Given the description of an element on the screen output the (x, y) to click on. 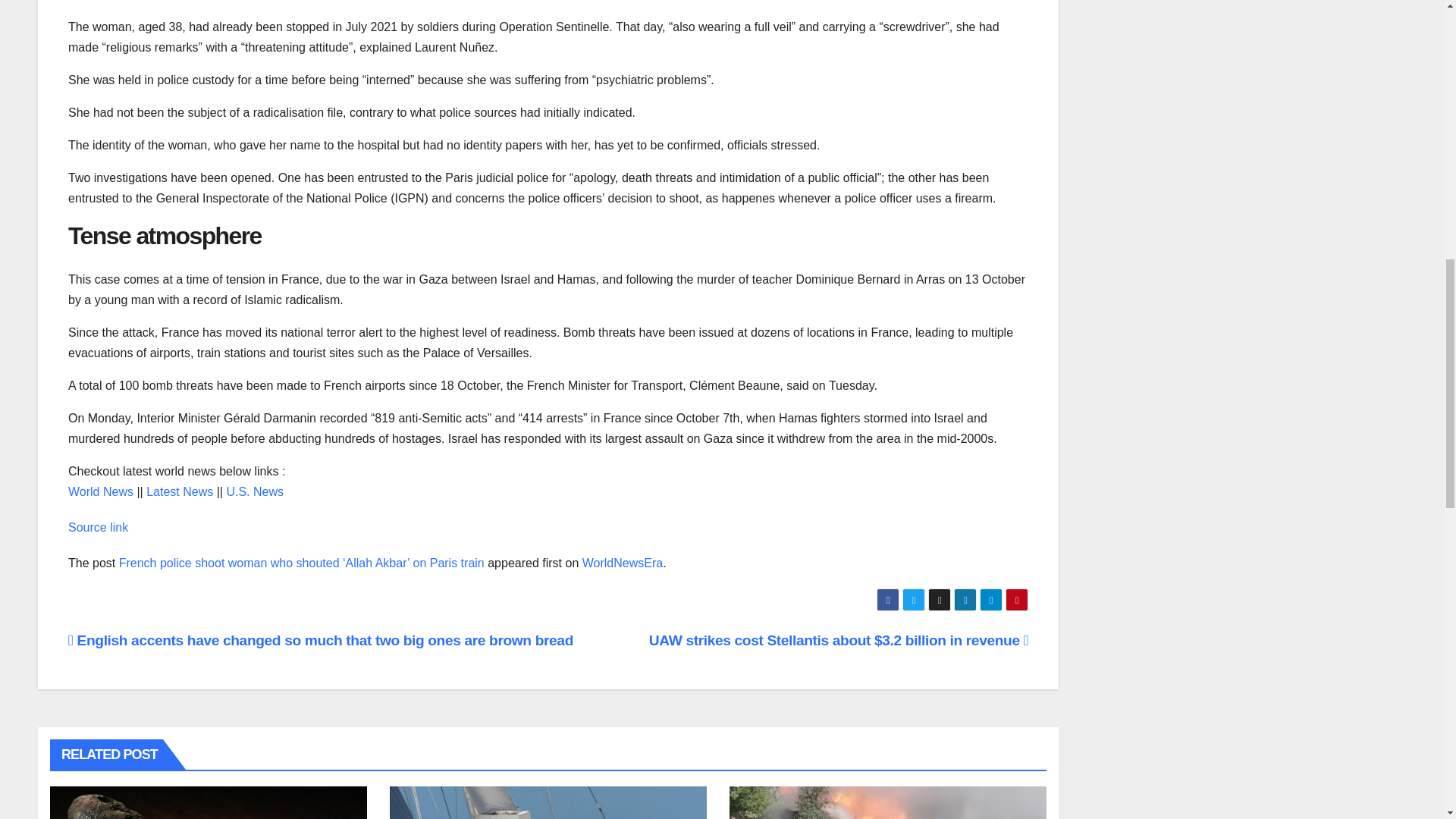
Source link (98, 526)
World News (100, 491)
U.S. News (254, 491)
Latest News (179, 491)
WorldNewsEra (622, 562)
